Given the description of an element on the screen output the (x, y) to click on. 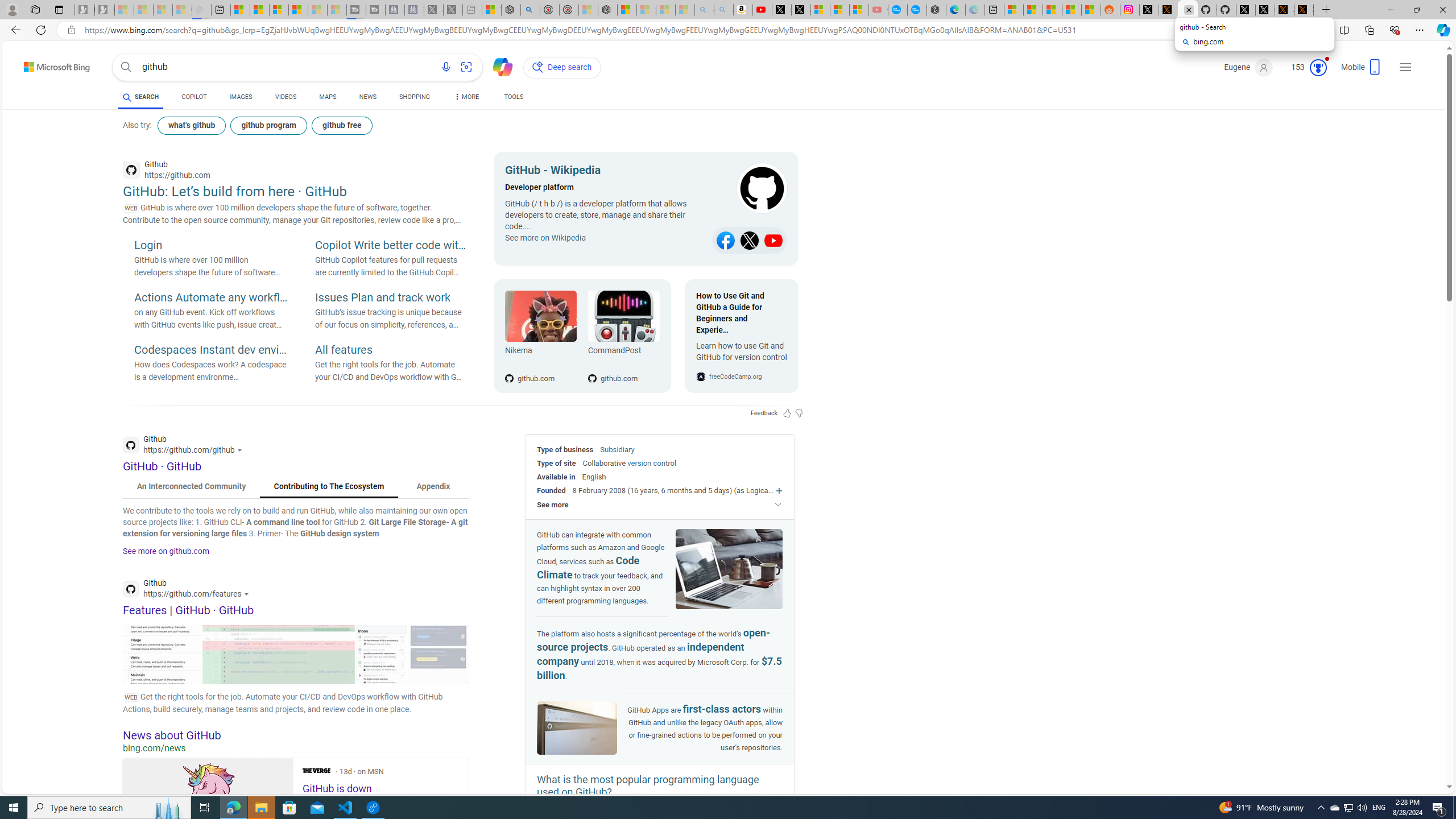
MAPS (327, 96)
Shanghai, China hourly forecast | Microsoft Weather (1052, 9)
Class: b_sitlk (773, 240)
Nikema (540, 315)
Skip to content (36, 63)
Search (126, 66)
Microsoft Start - Sleeping (316, 9)
Search button (126, 66)
